Given the description of an element on the screen output the (x, y) to click on. 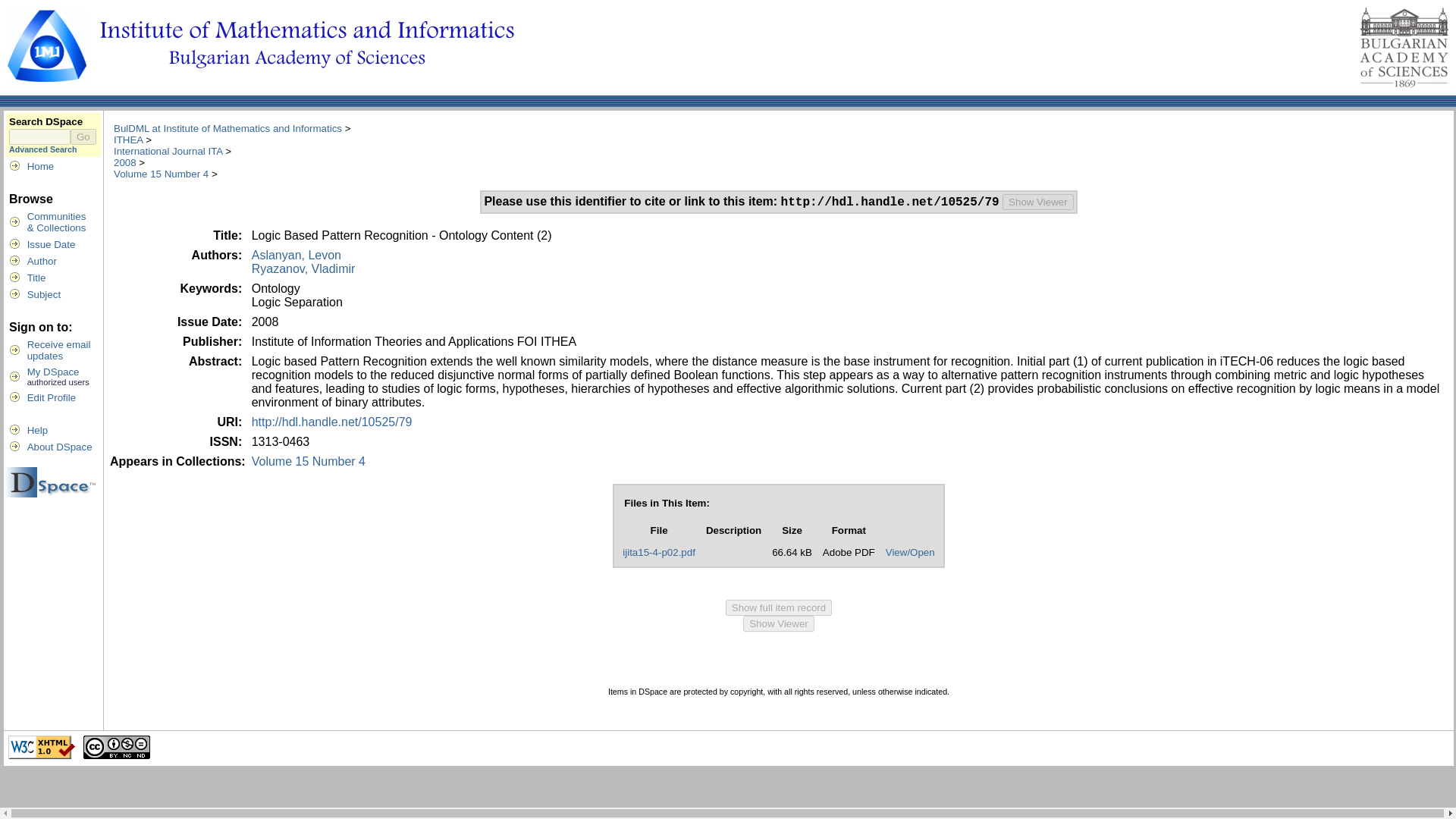
About DSpace (58, 350)
My DSpace (60, 446)
Issue Date (53, 371)
2008 (51, 243)
Show Viewer (124, 162)
International Journal ITA (1038, 201)
Edit Profile (167, 151)
Show full item record (51, 396)
Ryazanov, Vladimir (778, 607)
Help (303, 268)
Home (37, 430)
BulDML at Institute of Mathematics and Informatics (41, 165)
ITHEA (227, 128)
Subject (127, 139)
